Given the description of an element on the screen output the (x, y) to click on. 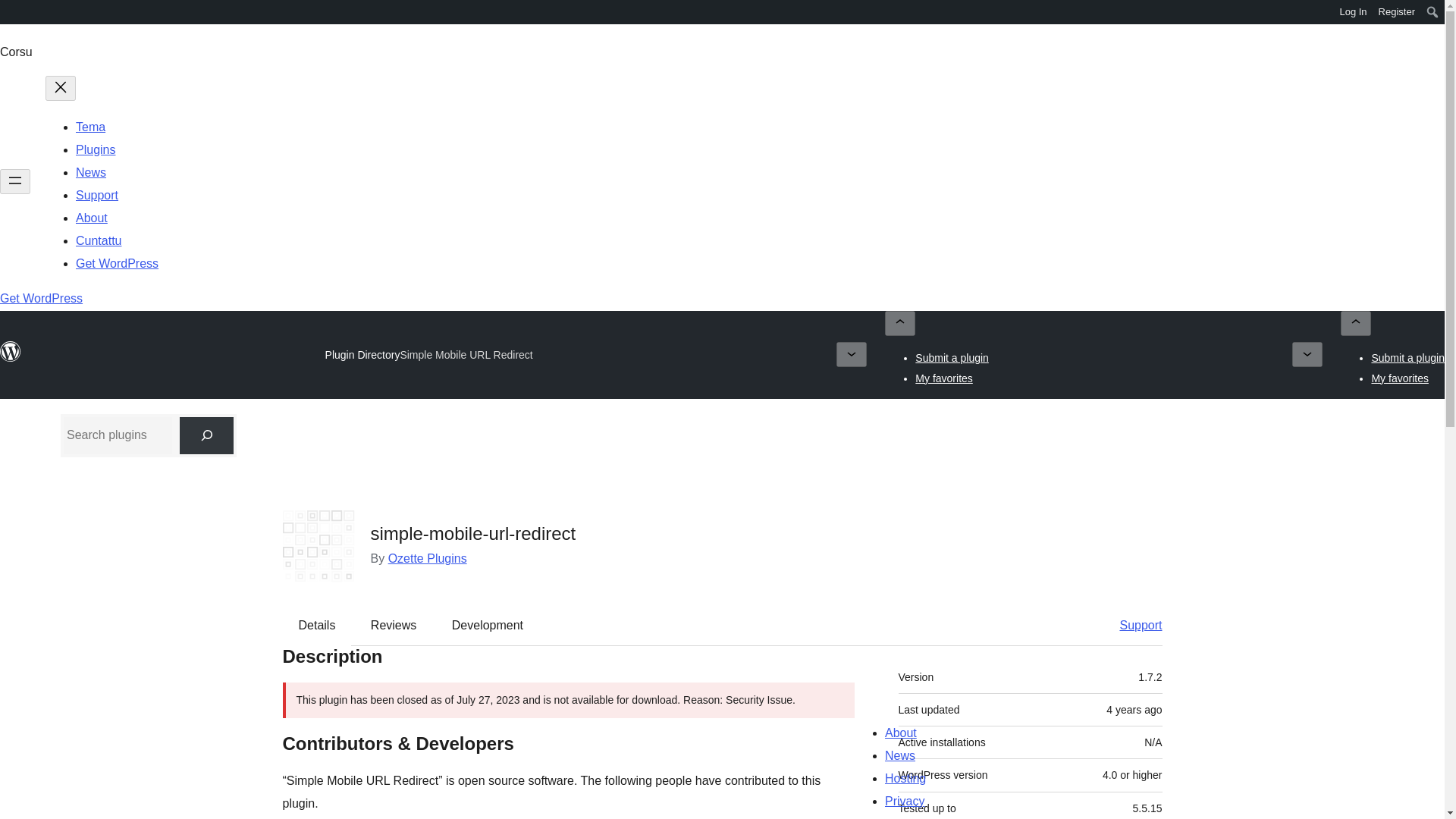
Simple Mobile URL Redirect (465, 354)
News (90, 172)
Plugins (95, 149)
Support (96, 195)
Cuntattu (97, 240)
Search (16, 13)
Get WordPress (41, 297)
WordPress.org (10, 358)
Reviews (392, 625)
My favorites (1399, 377)
Plugin Directory (362, 354)
Submit a plugin (951, 357)
WordPress.org (10, 351)
Get WordPress (116, 263)
About (91, 217)
